Given the description of an element on the screen output the (x, y) to click on. 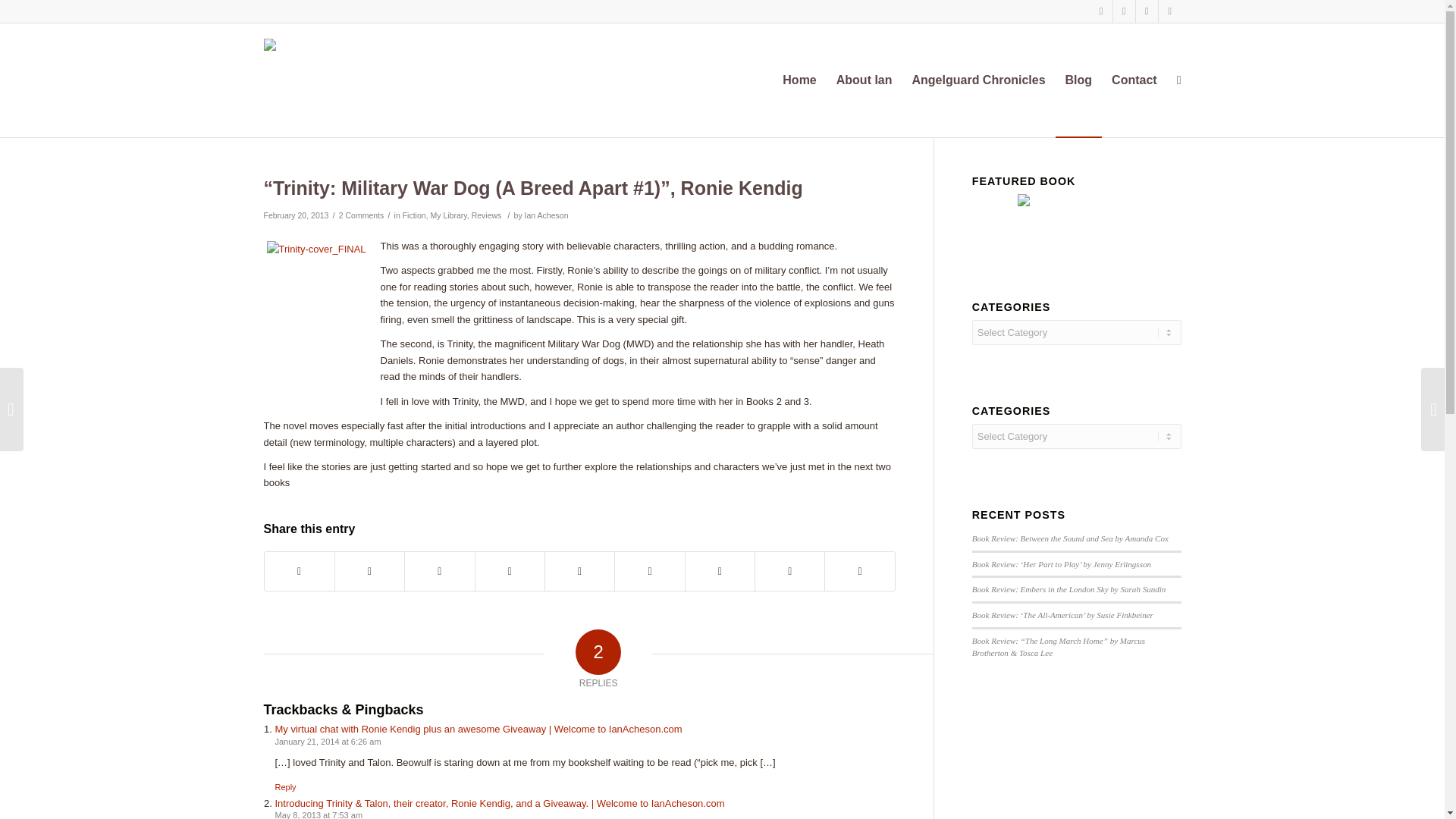
Reply (285, 786)
Reviews (486, 215)
Book Review: Between the Sound and Sea by Amanda Cox (1070, 537)
2 Comments (361, 215)
Rss (1169, 11)
Fiction (414, 215)
Angelguard Chronicles (978, 80)
Ian Acheson (546, 215)
January 21, 2014 at 6:26 am (327, 741)
Facebook (1124, 11)
